Given the description of an element on the screen output the (x, y) to click on. 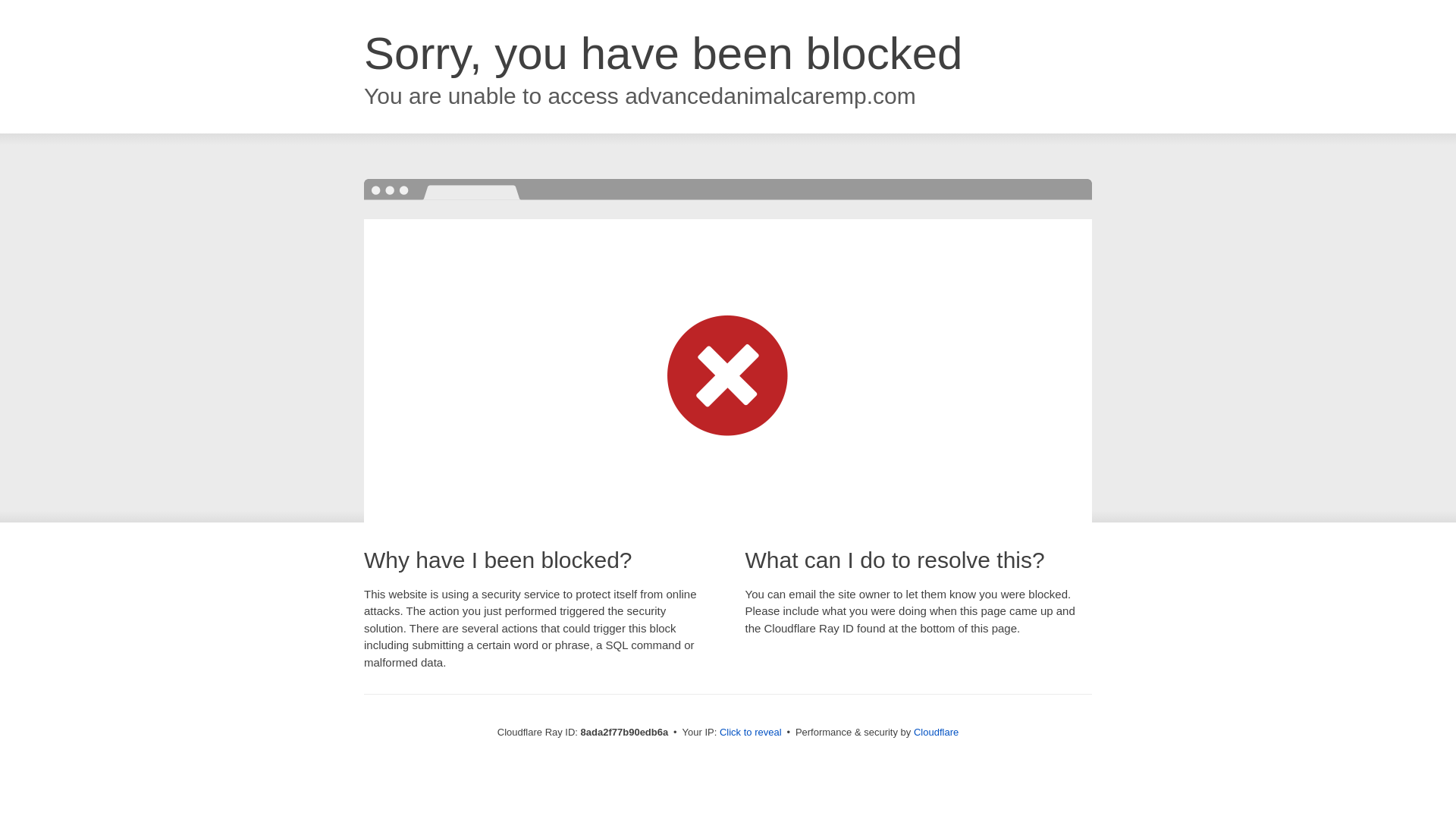
Cloudflare (936, 731)
Click to reveal (750, 732)
